Given the description of an element on the screen output the (x, y) to click on. 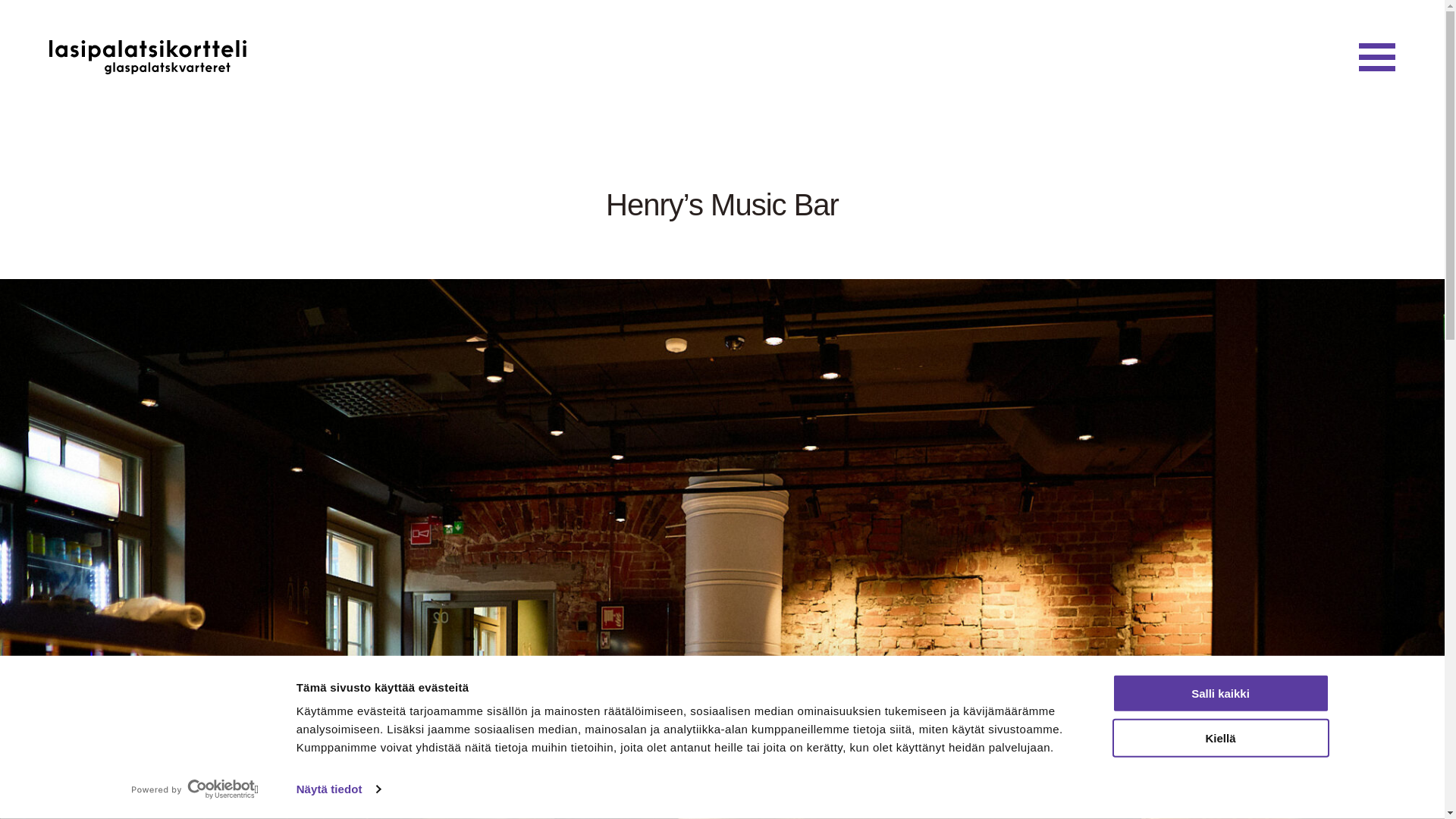
Salli kaikki (1219, 693)
